Given the description of an element on the screen output the (x, y) to click on. 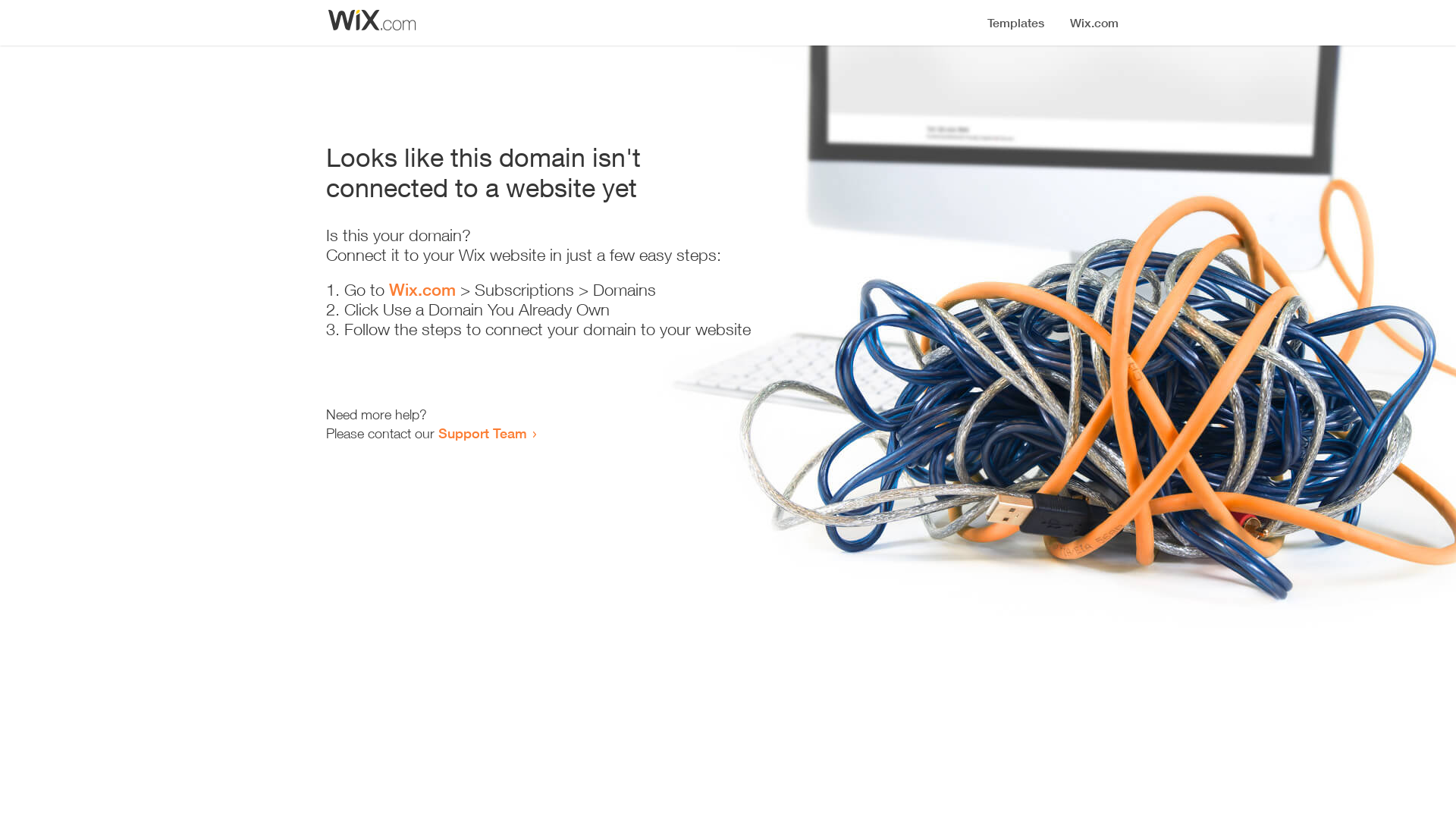
Wix.com Element type: text (422, 289)
Support Team Element type: text (482, 432)
